Given the description of an element on the screen output the (x, y) to click on. 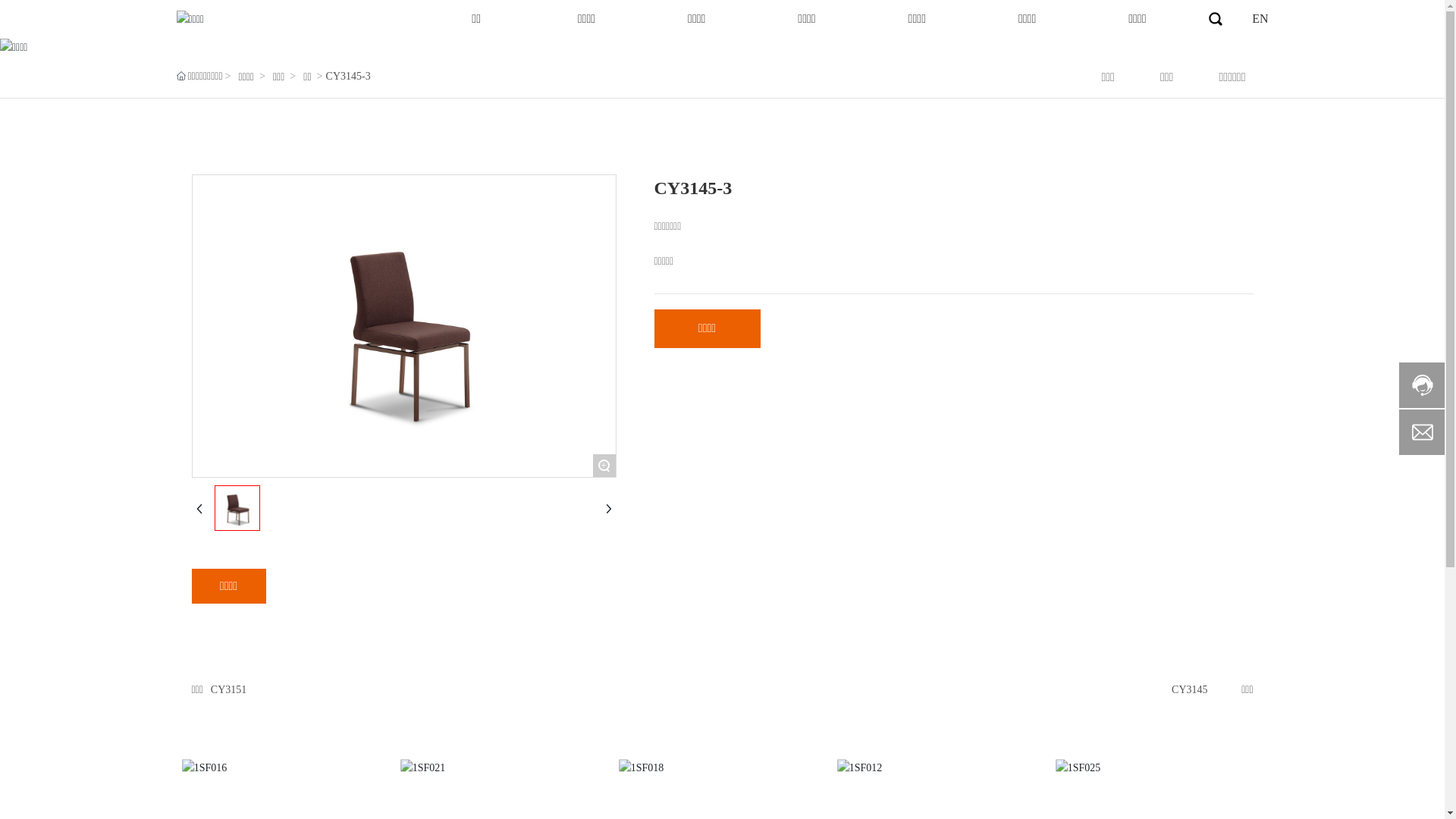
CY3145-3.jpg Element type: hover (237, 508)
EN Element type: text (1259, 18)
1SF021 Element type: hover (504, 768)
1SF025 Element type: hover (1159, 768)
1SF018 Element type: hover (722, 768)
CY3145 Element type: text (1189, 689)
1SF016 Element type: hover (285, 768)
1SF012 Element type: hover (940, 768)
CY3151 Element type: text (228, 689)
